Given the description of an element on the screen output the (x, y) to click on. 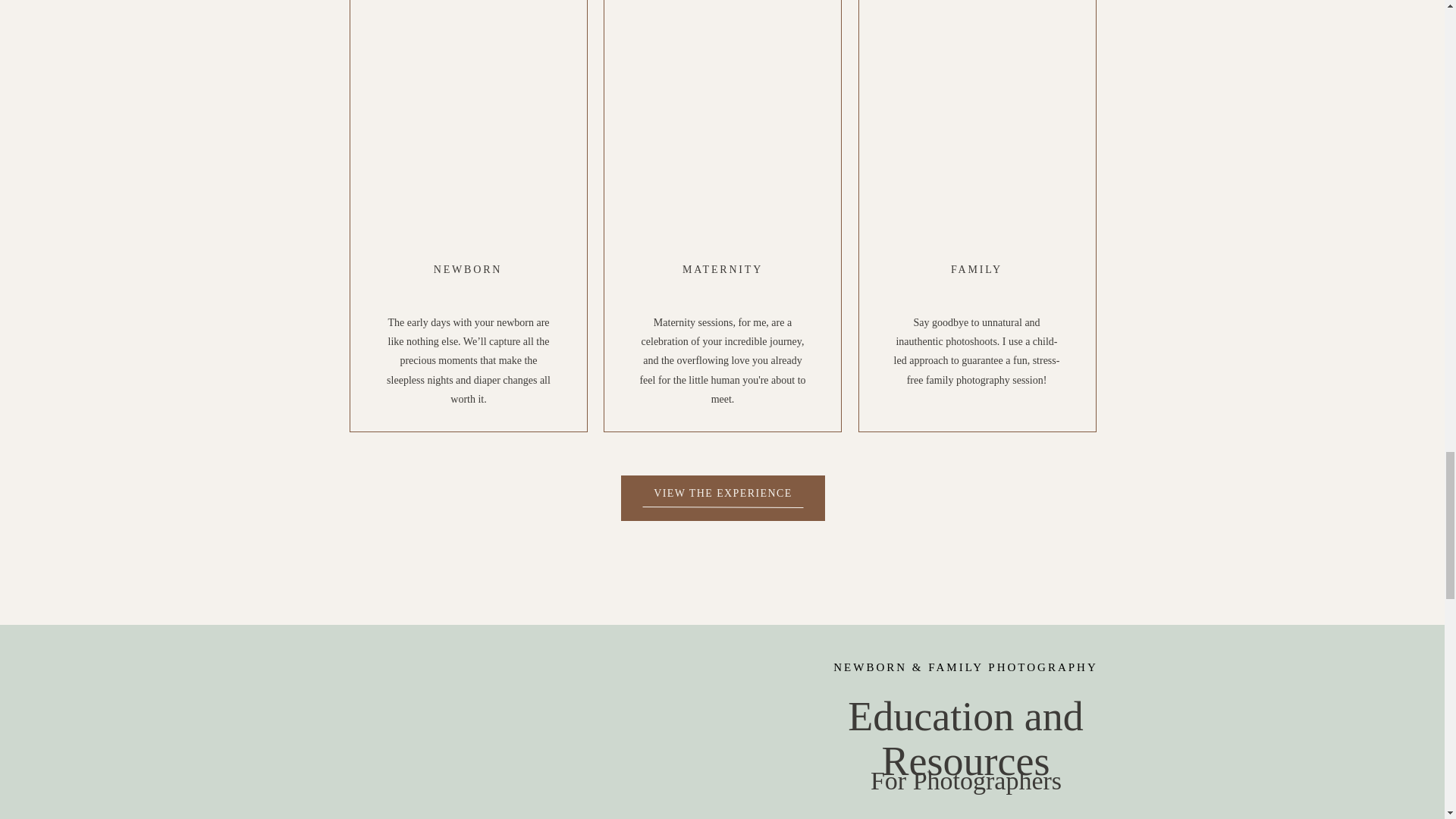
FAMILY (976, 269)
THE D FAMILY - LILY IS ONE! 7 (625, 810)
MATERNITY (722, 269)
NEWBORN (467, 269)
VIEW THE EXPERIENCE (722, 490)
